Given the description of an element on the screen output the (x, y) to click on. 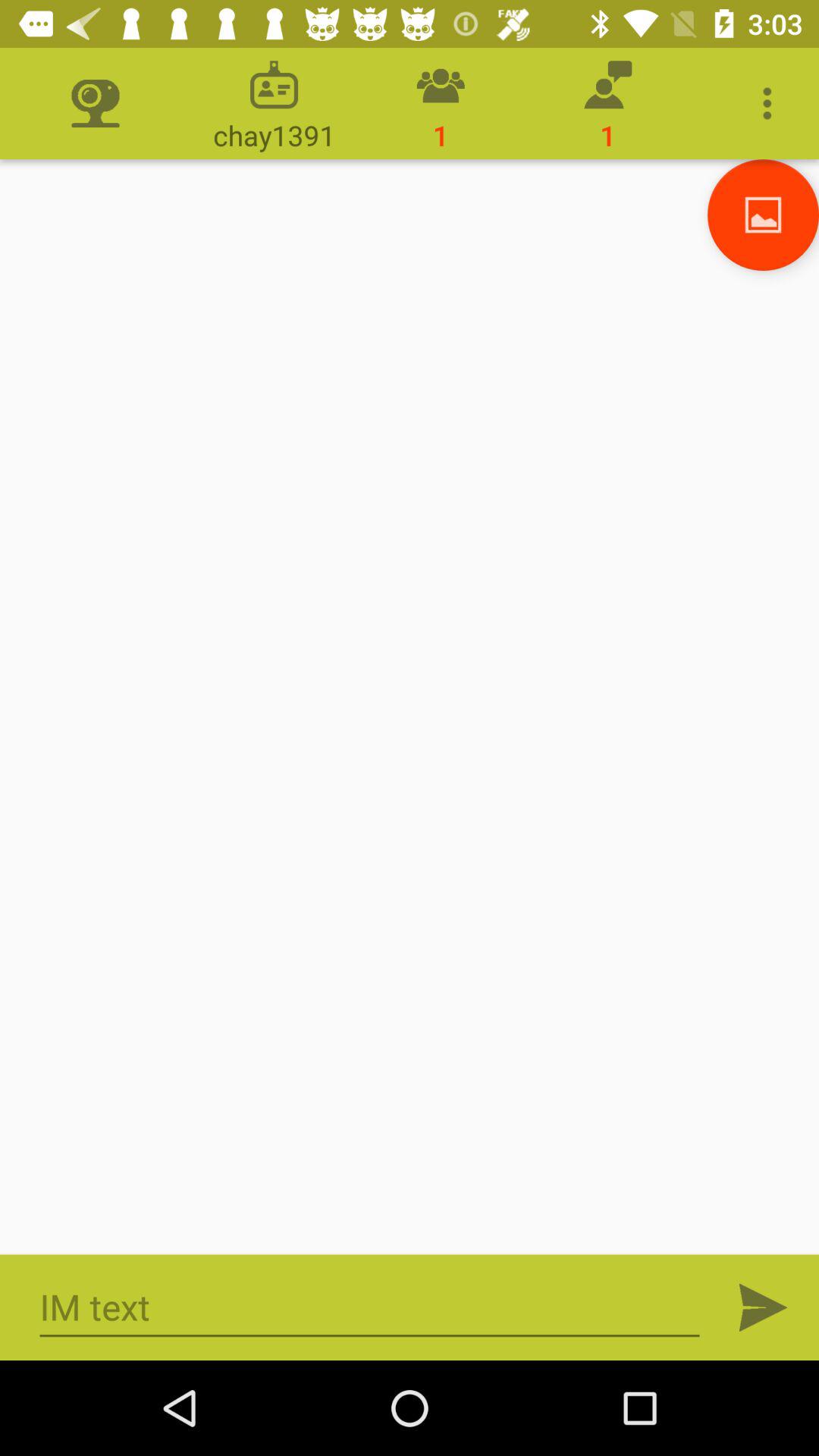
add image button (763, 214)
